Given the description of an element on the screen output the (x, y) to click on. 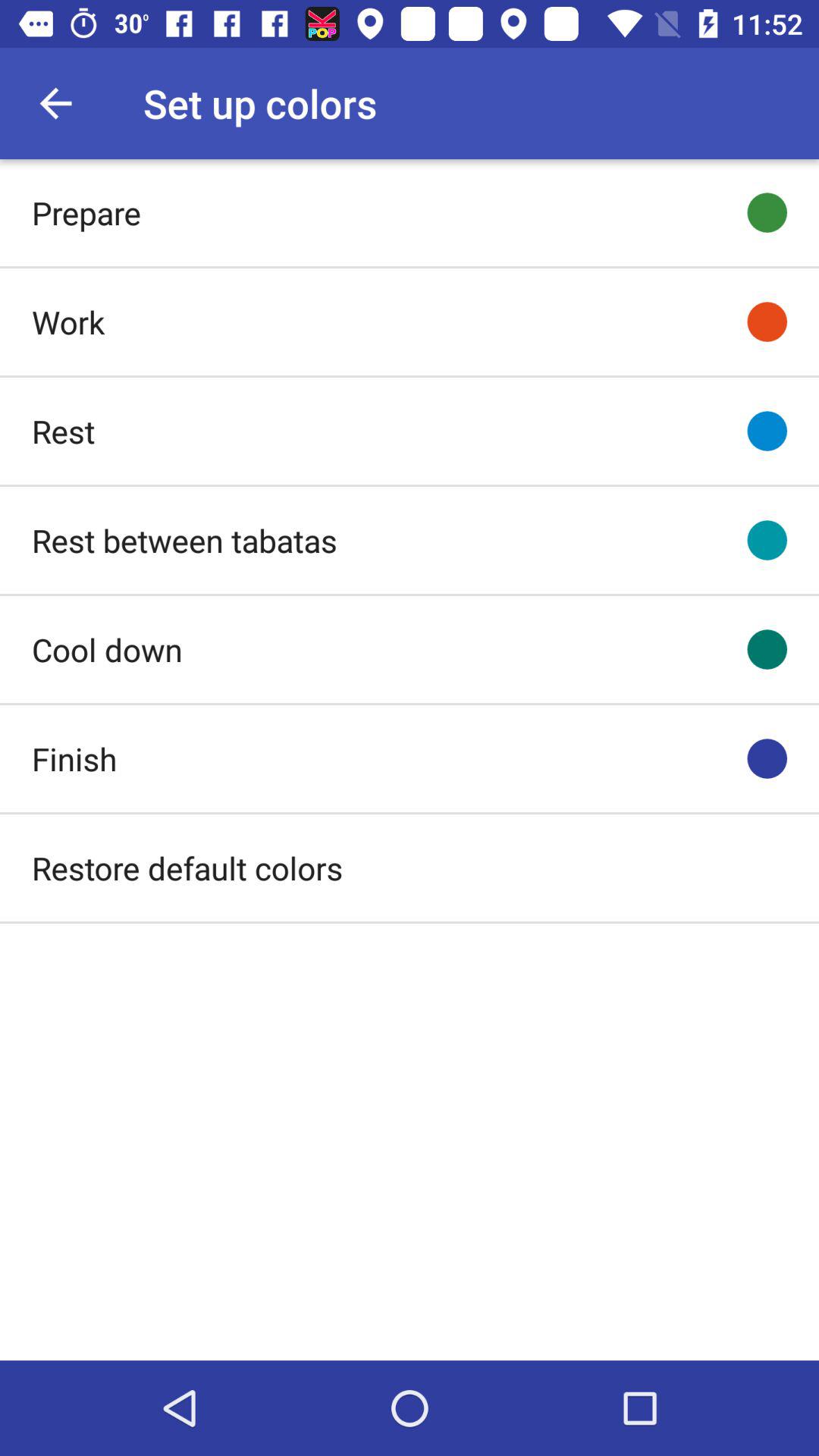
turn off icon to the right of work item (767, 321)
